Given the description of an element on the screen output the (x, y) to click on. 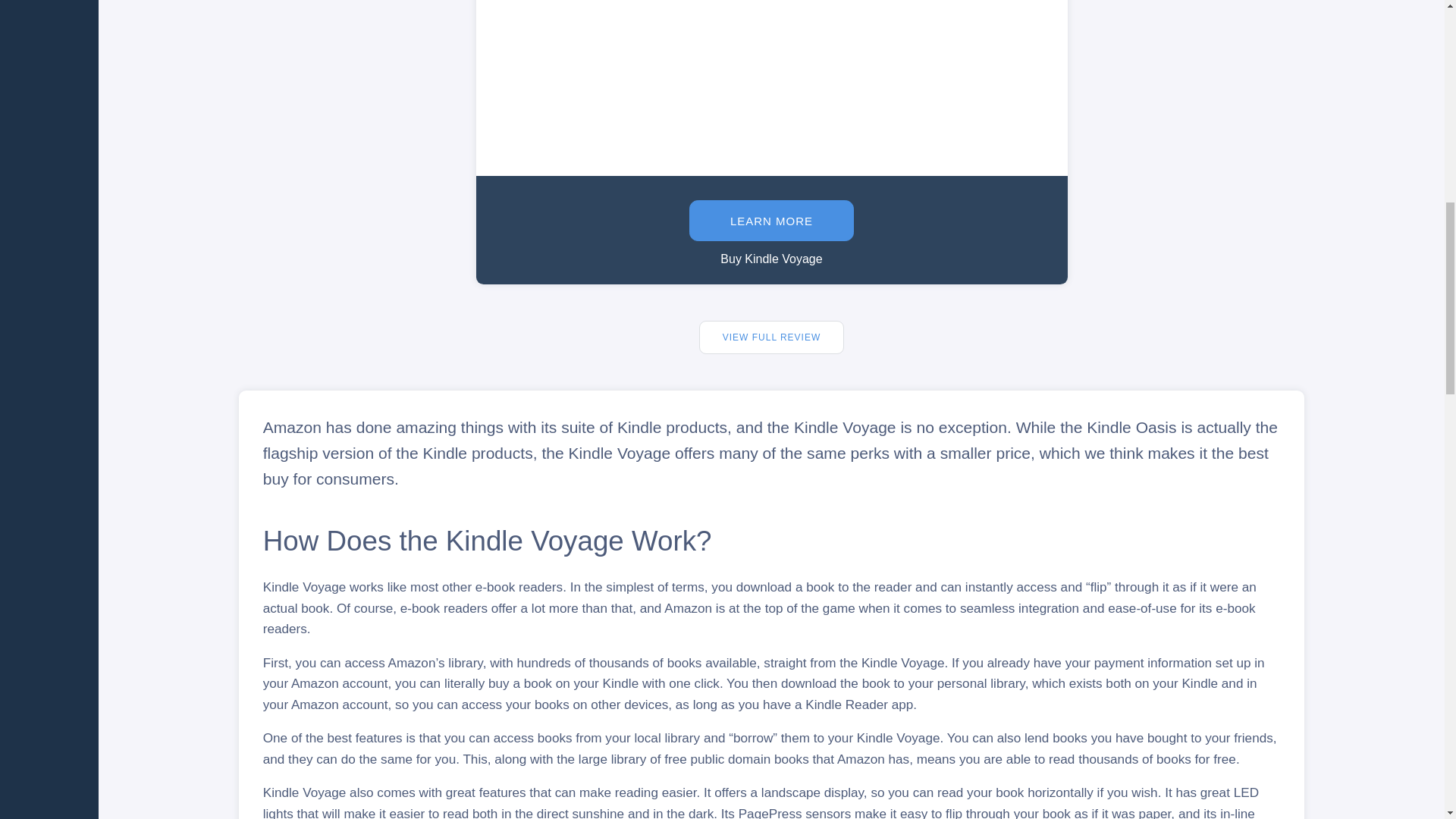
Advertisement (771, 66)
